Given the description of an element on the screen output the (x, y) to click on. 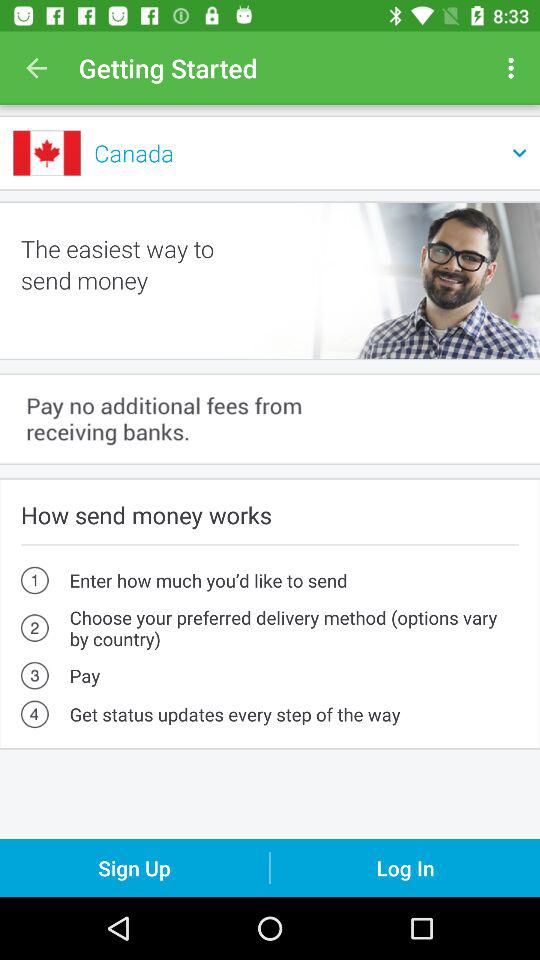
launch item to the left of getting started icon (36, 68)
